Given the description of an element on the screen output the (x, y) to click on. 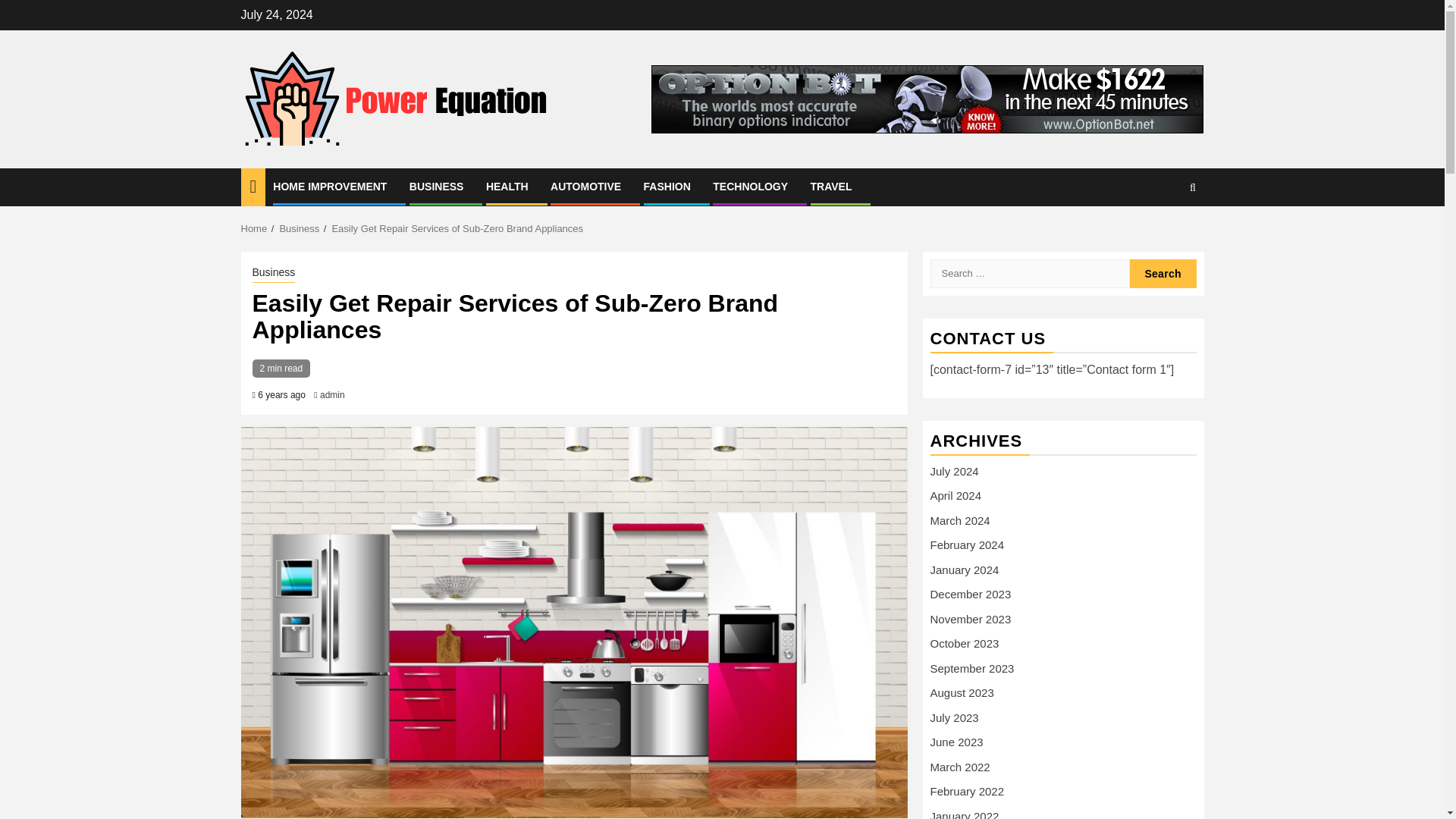
FASHION (666, 186)
admin (332, 394)
Search (1163, 233)
AUTOMOTIVE (585, 186)
Search (1162, 273)
Search (1162, 273)
Easily Get Repair Services of Sub-Zero Brand Appliances (457, 228)
BUSINESS (436, 186)
TRAVEL (830, 186)
Search (1192, 187)
April 2024 (955, 495)
Business (298, 228)
HOME IMPROVEMENT (330, 186)
HEALTH (507, 186)
March 2024 (960, 520)
